Given the description of an element on the screen output the (x, y) to click on. 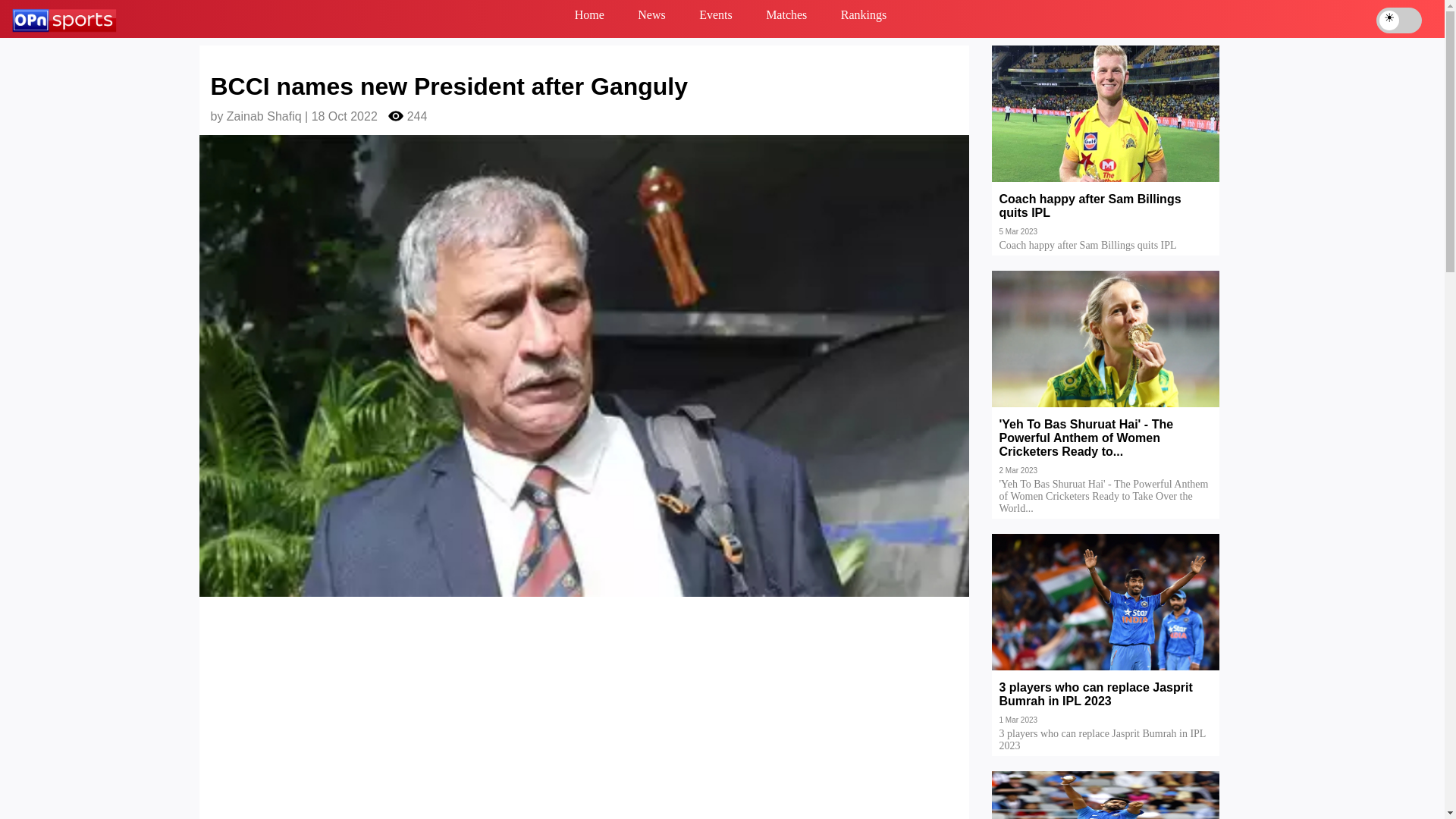
3 players who can replace Jasprit Bumrah in IPL 2023 (1105, 704)
Home (589, 19)
Matches (785, 19)
News (651, 19)
Events (715, 19)
Rankings (862, 19)
Coach happy after Sam Billings quits IPL (1105, 216)
